Given the description of an element on the screen output the (x, y) to click on. 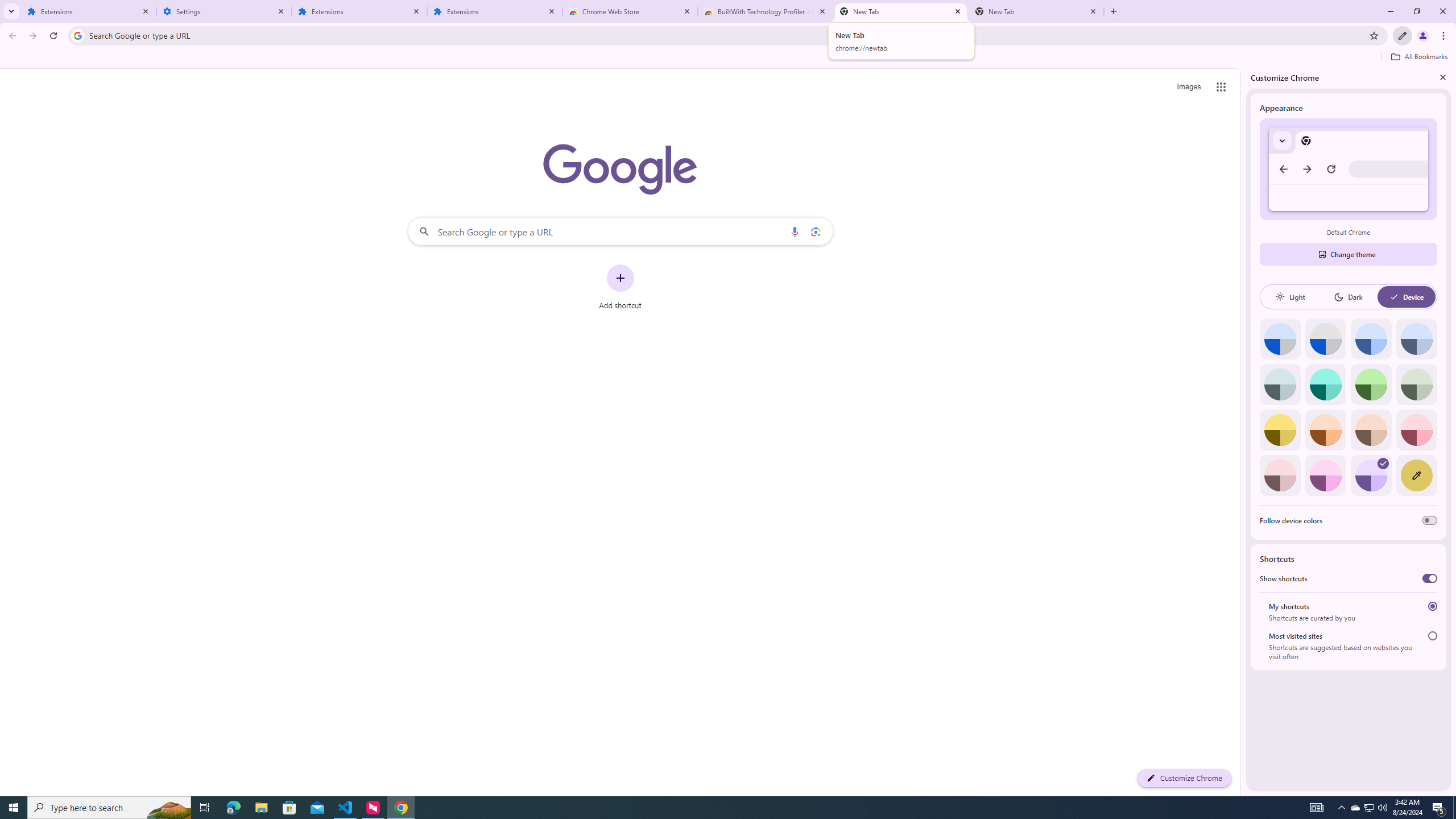
Dark (1348, 296)
